Given the description of an element on the screen output the (x, y) to click on. 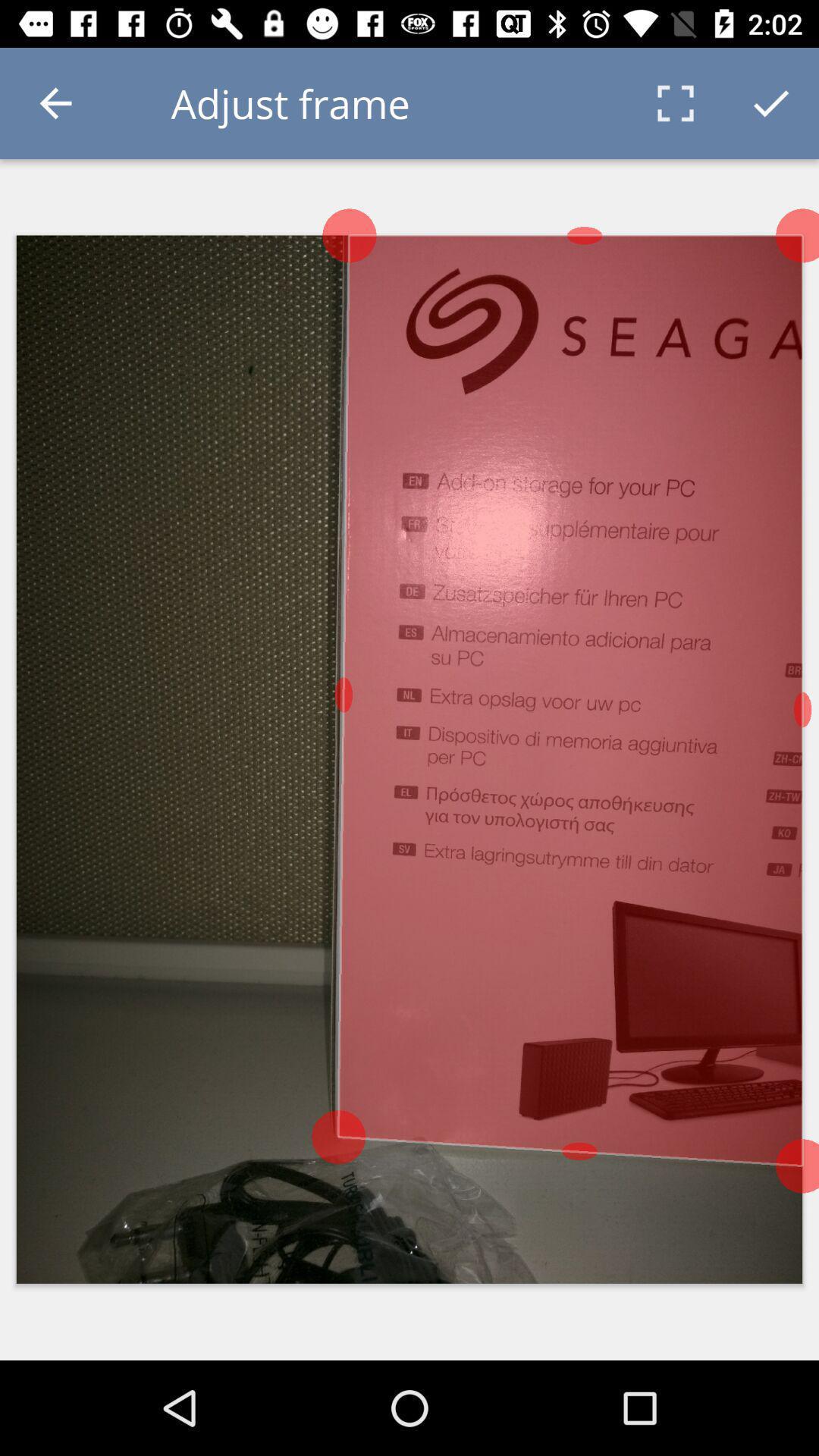
click the icon next to the adjust frame (675, 103)
